Given the description of an element on the screen output the (x, y) to click on. 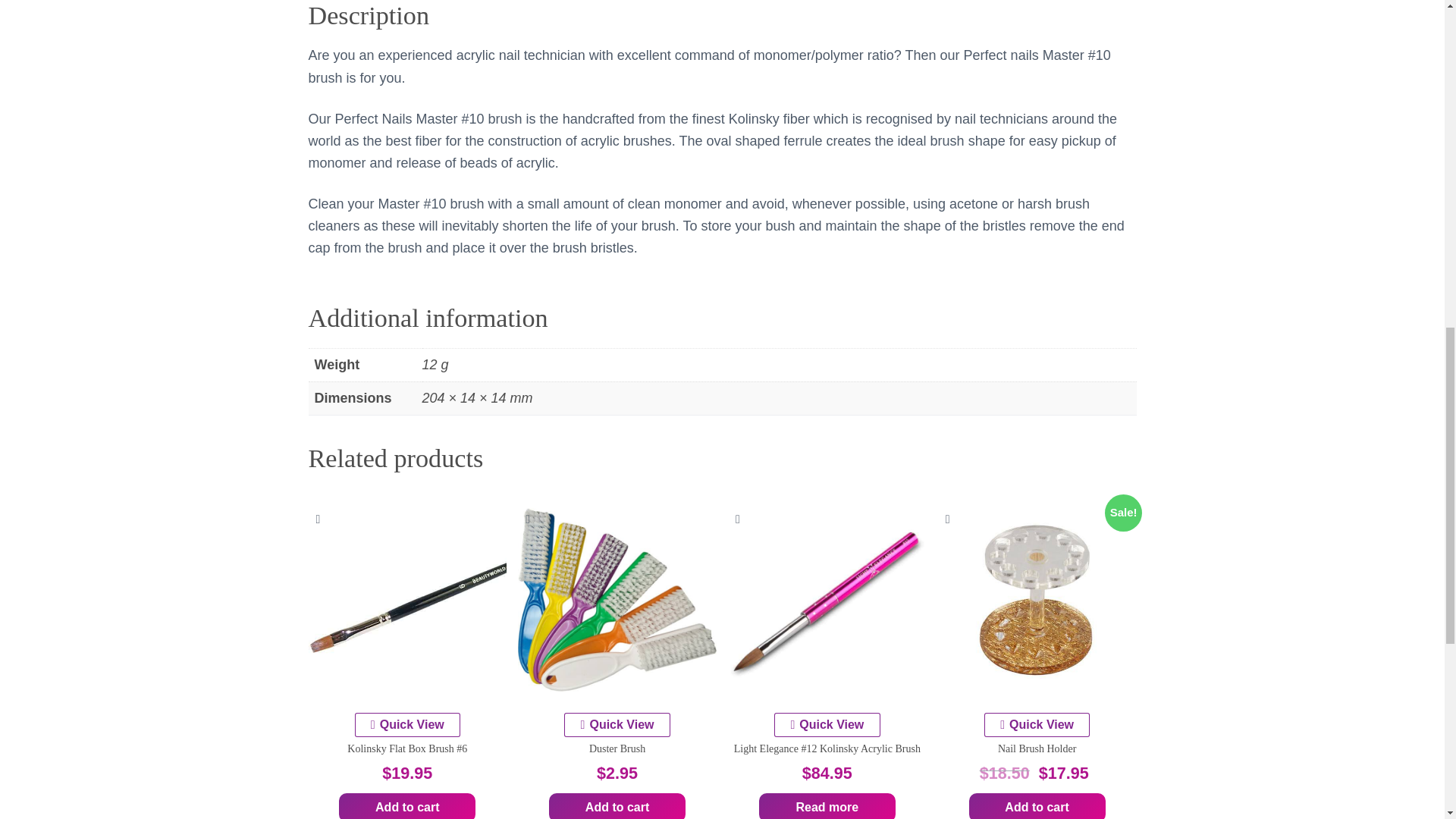
Duster Brush (617, 599)
Nail Brush Holder (1037, 599)
